Given the description of an element on the screen output the (x, y) to click on. 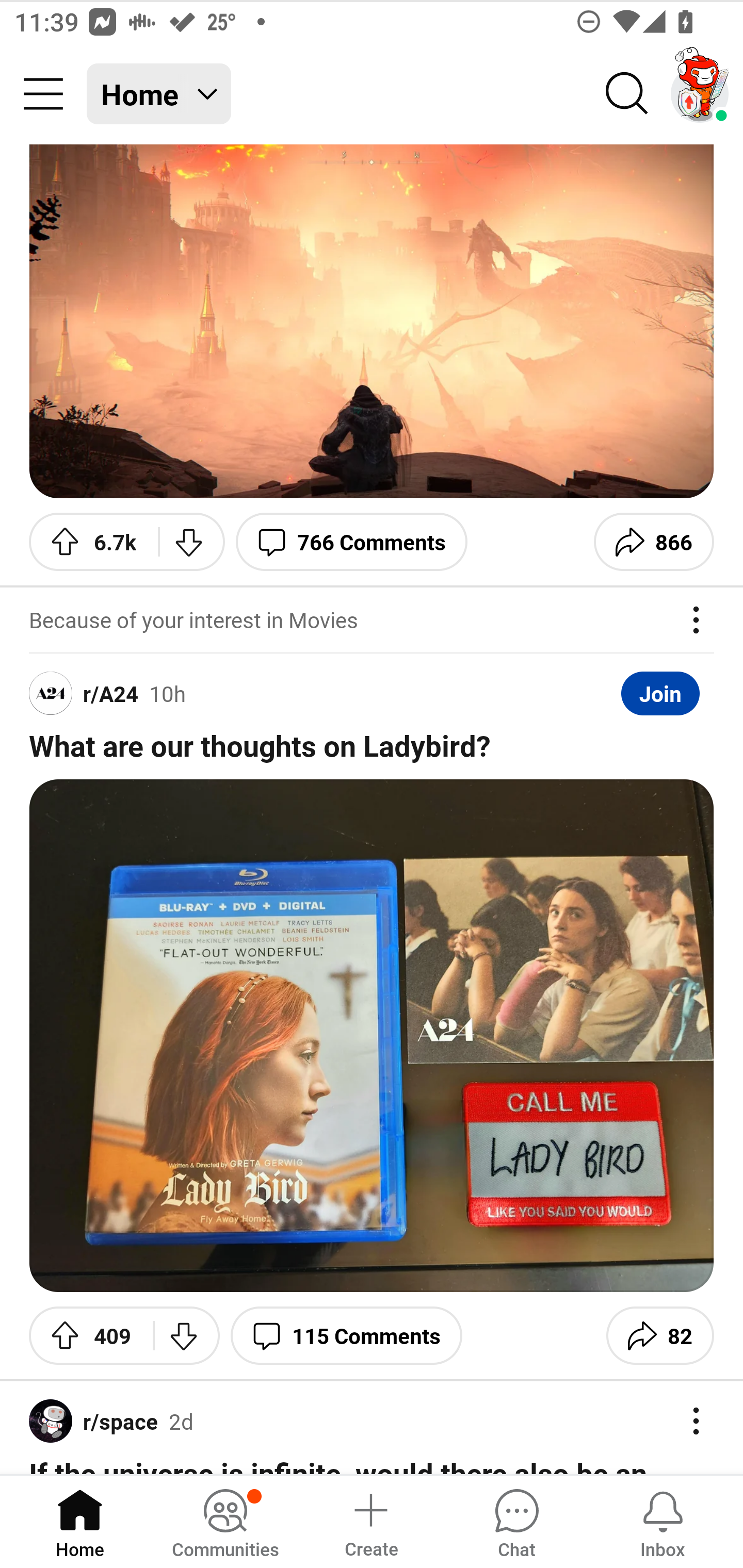
Community menu (43, 93)
Home Home feed (158, 93)
Search (626, 93)
TestAppium002 account (699, 93)
Home (80, 1520)
Communities, has notifications Communities (225, 1520)
Create a post Create (370, 1520)
Chat (516, 1520)
Inbox (662, 1520)
